Given the description of an element on the screen output the (x, y) to click on. 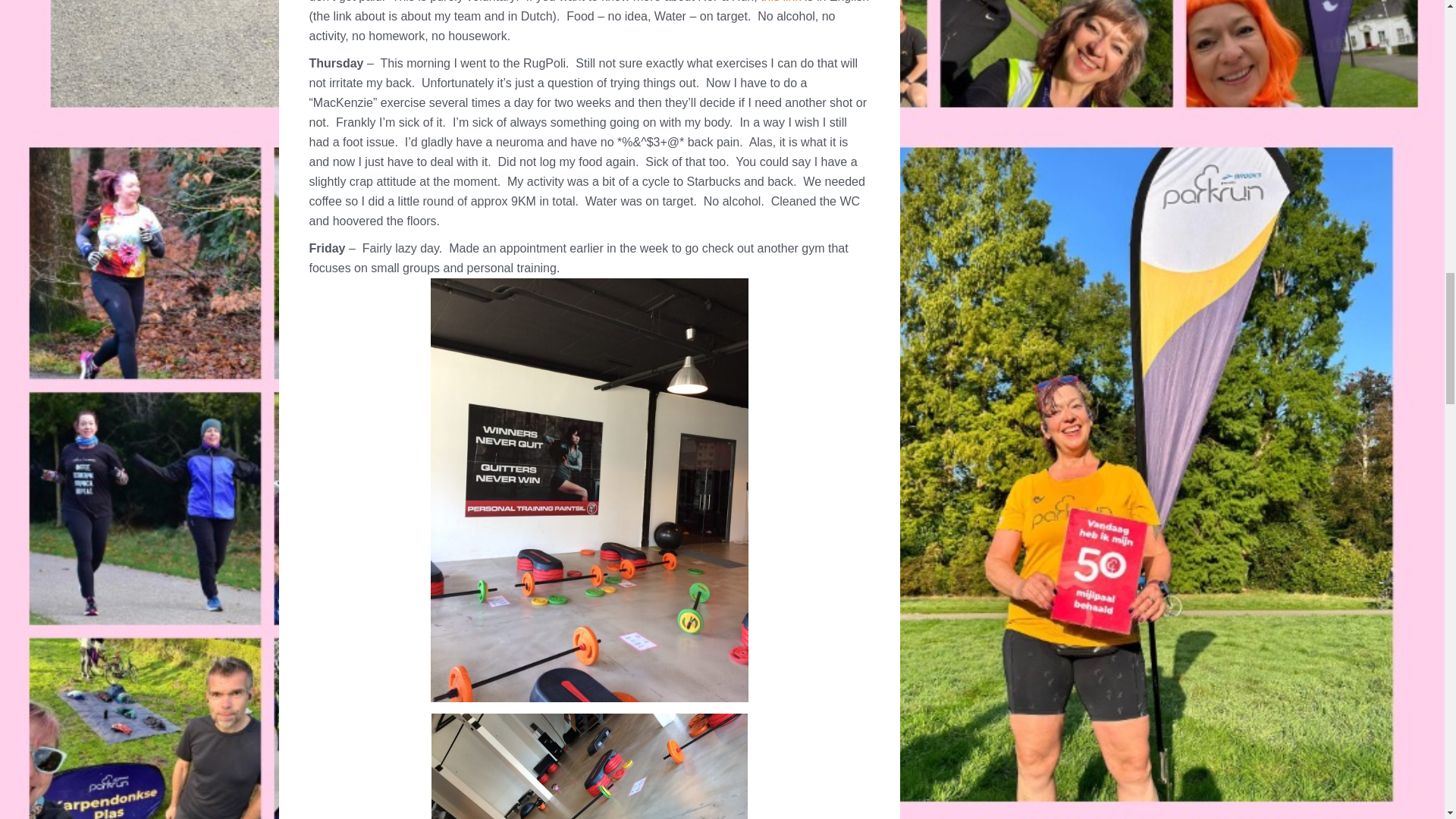
this link (780, 1)
